Given the description of an element on the screen output the (x, y) to click on. 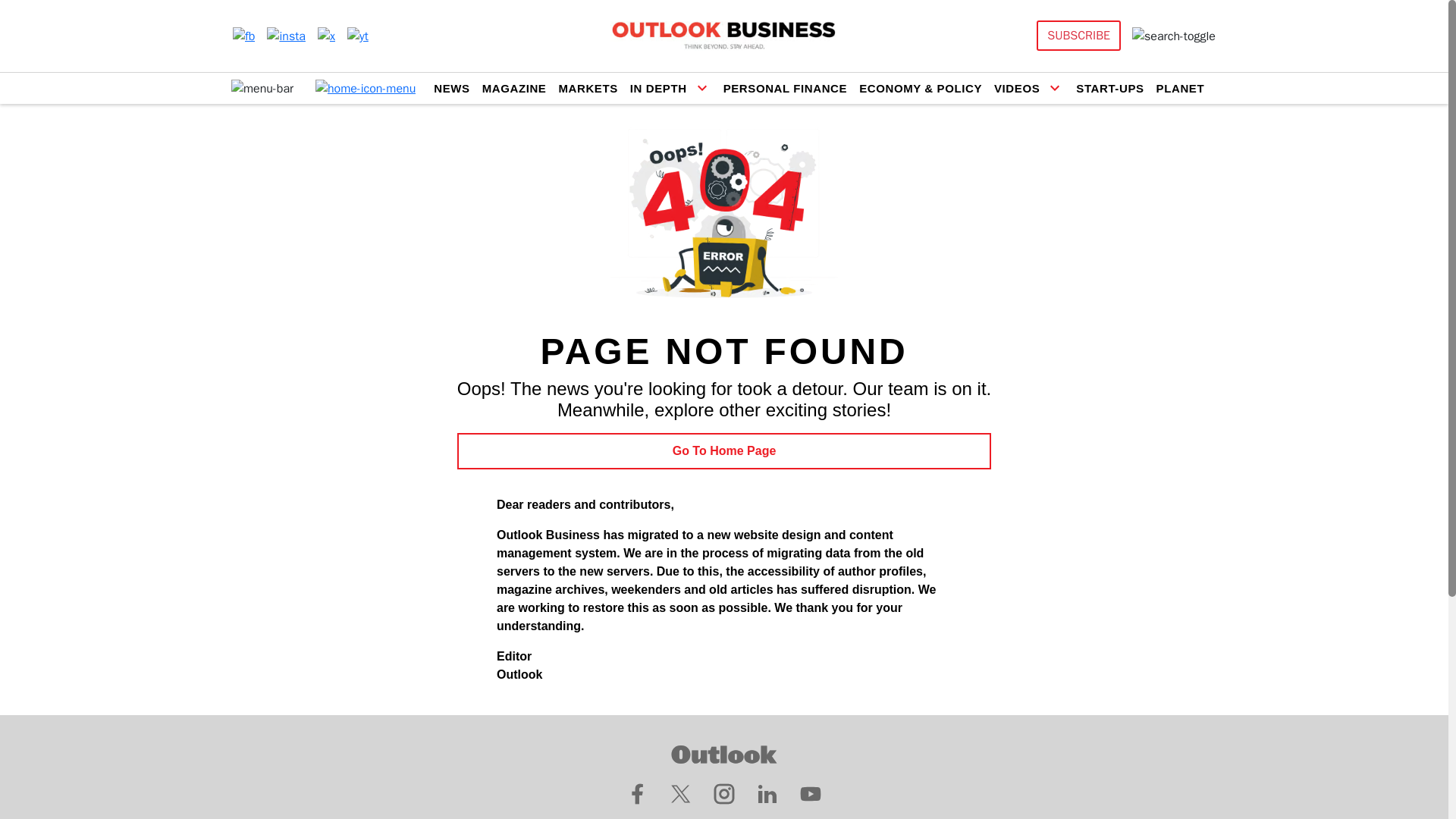
IN DEPTH (658, 88)
START-UPS (1108, 88)
PERSONAL FINANCE (785, 88)
NEWS (450, 88)
PLANET (1180, 88)
SUBSCRIBE (1078, 35)
VIDEOS (1016, 88)
MARKETS (587, 88)
MAGAZINE (514, 88)
